Given the description of an element on the screen output the (x, y) to click on. 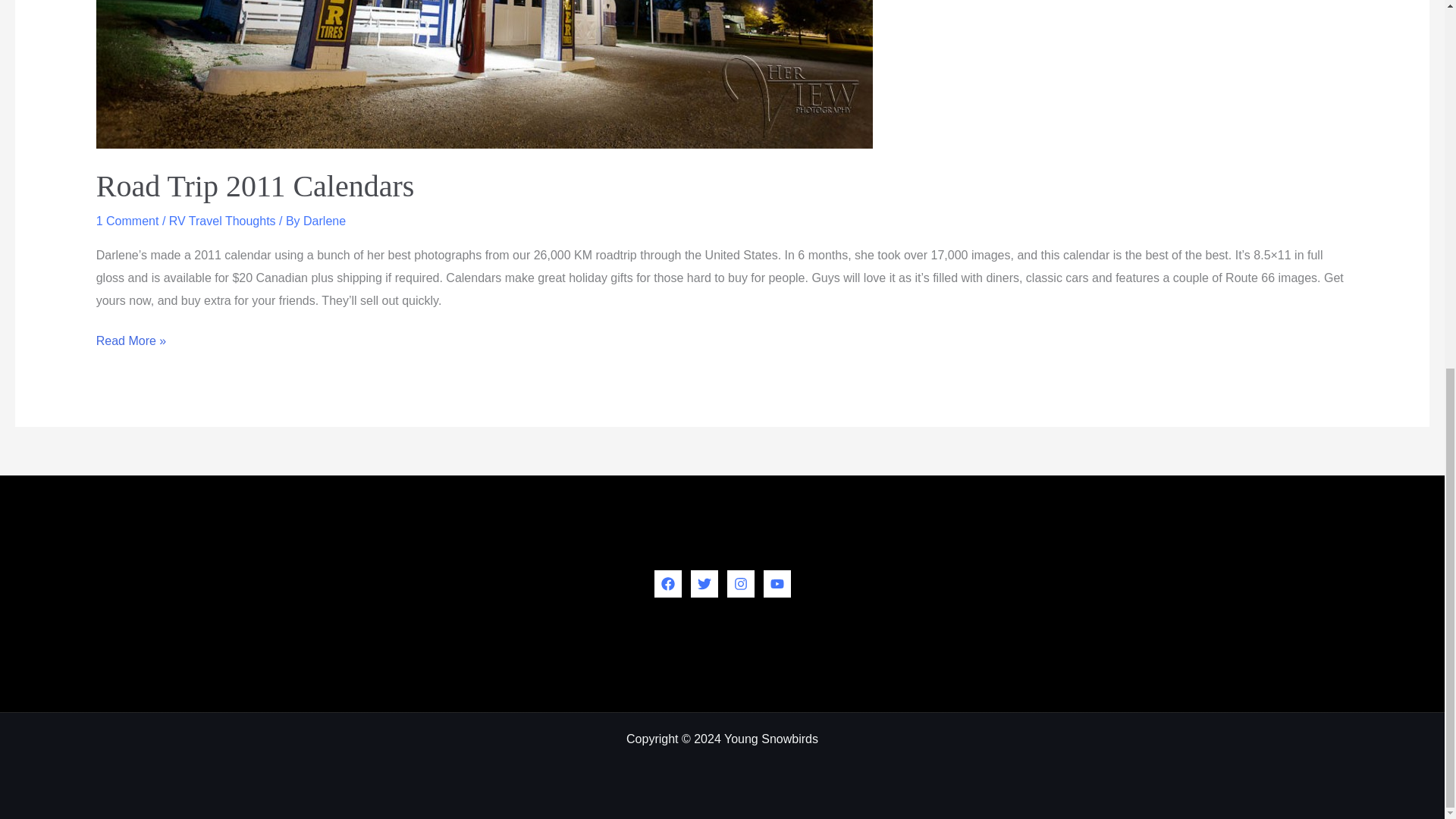
View all posts by Darlene (324, 220)
Road Trip 2011 Calendars (255, 185)
RV Travel Thoughts (222, 220)
1 Comment (127, 220)
Darlene (324, 220)
